Given the description of an element on the screen output the (x, y) to click on. 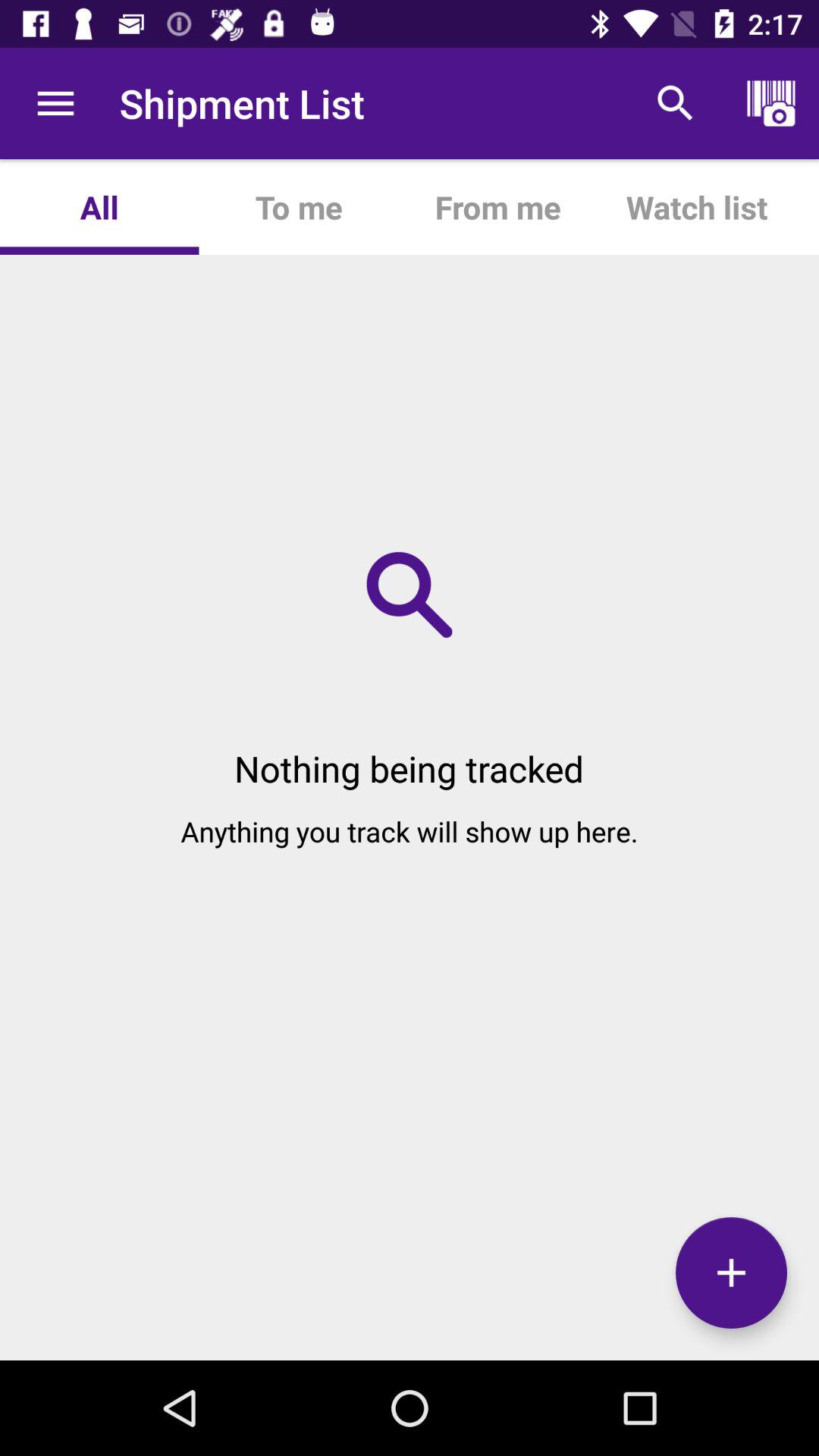
open the item next to from me app (675, 103)
